Given the description of an element on the screen output the (x, y) to click on. 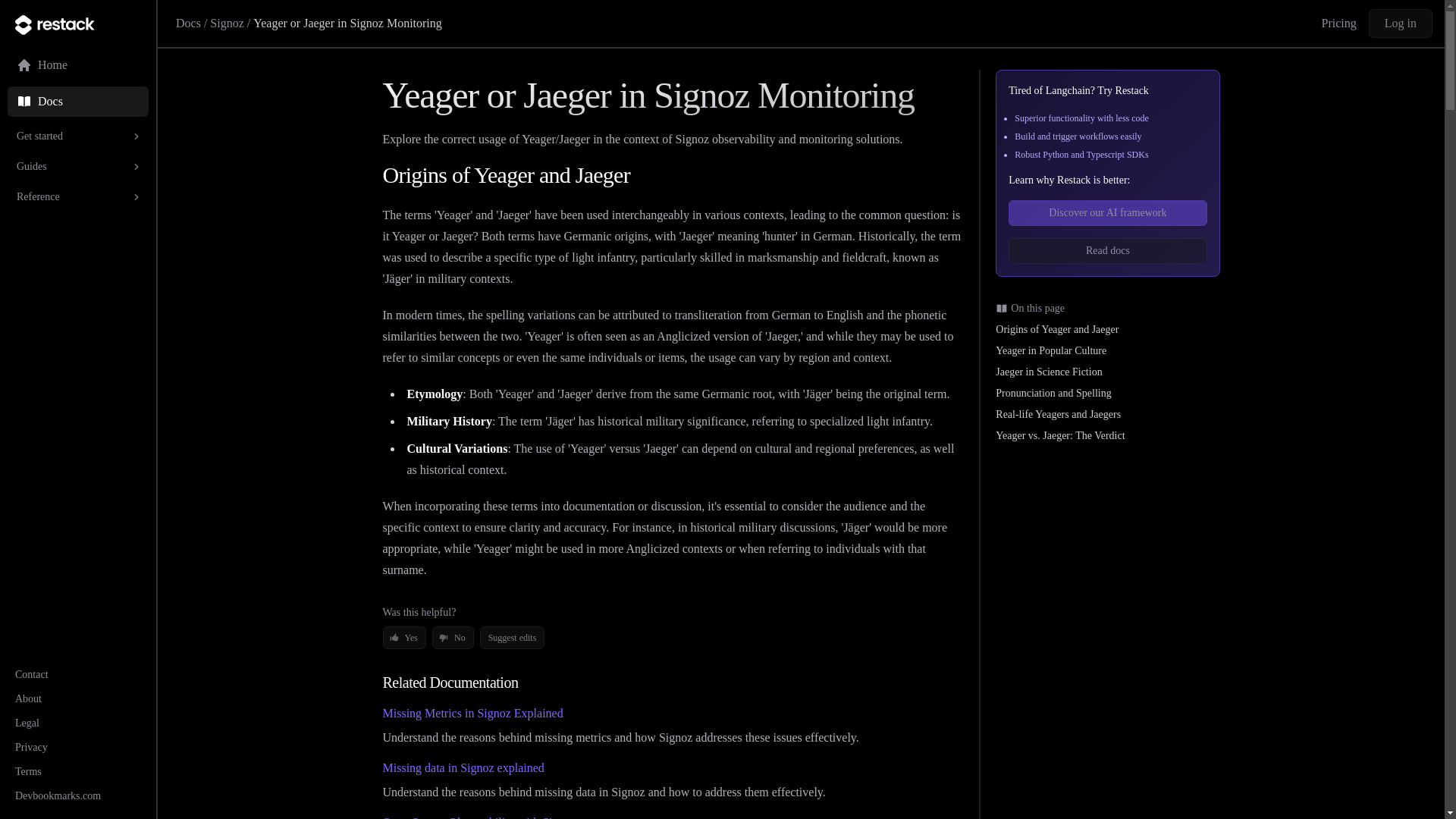
Suggest edits (512, 637)
Privacy (31, 747)
Pricing (1339, 23)
No (453, 637)
Missing data in Signoz explained (462, 767)
Yes (403, 637)
Docs (188, 22)
Contact (31, 674)
Missing Metrics in Signoz Explained (471, 712)
About (28, 698)
Terms (28, 771)
Open Source Observability with Signoz (478, 817)
Devbookmarks.com (57, 795)
Home (77, 64)
Restack (77, 24)
